Given the description of an element on the screen output the (x, y) to click on. 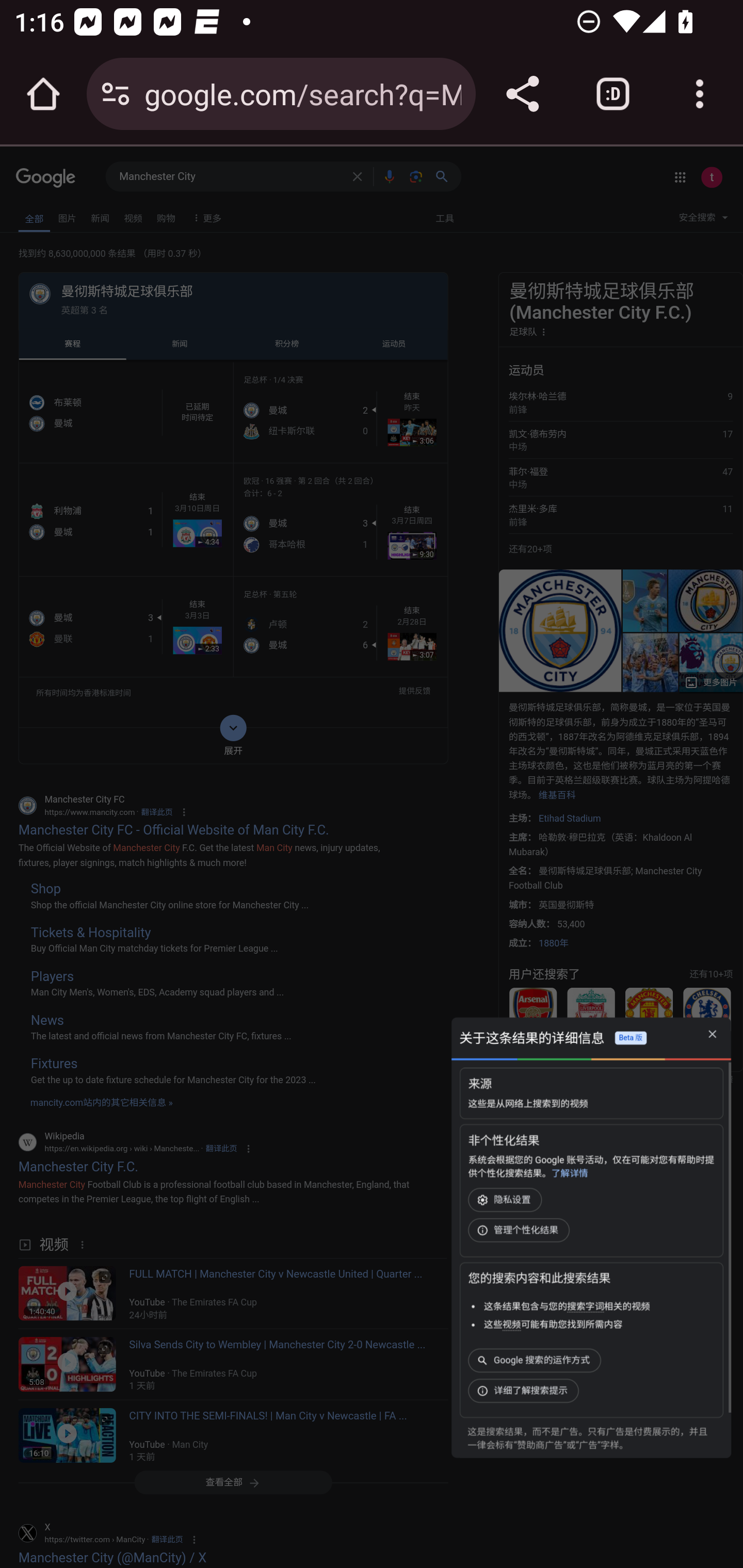
Open the home page (43, 93)
Connection is secure (115, 93)
Share (522, 93)
Switch or close tabs (612, 93)
Customize and control Google Chrome (699, 93)
关闭“关于这条结果” (712, 1034)
了解详情 (568, 1173)
隐私设置 (506, 1200)
管理个性化结果 (520, 1229)
这条结果包含与您的搜索字词相关的视频 (566, 1305)
这些视频可能有助您找到所需内容 (552, 1324)
Google 搜索的运作方式 (536, 1360)
详细了解搜索提示 (524, 1390)
